Given the description of an element on the screen output the (x, y) to click on. 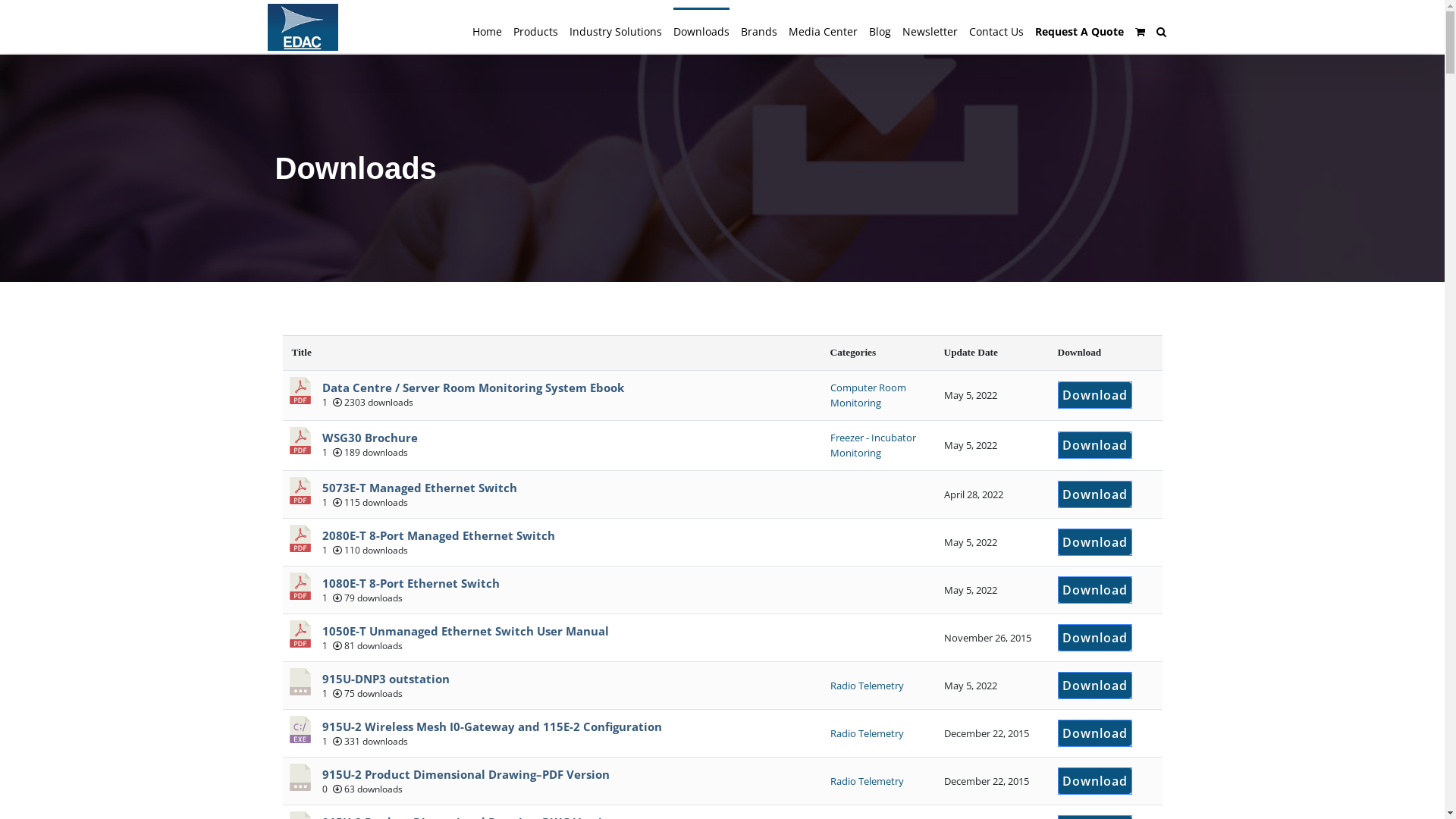
Freezer - Incubator Monitoring Element type: text (872, 445)
1050E-T Unmanaged Ethernet Switch User Manual Element type: text (464, 630)
Download Element type: text (1094, 589)
915U-2 Wireless Mesh I0-Gateway and 115E-2 Configuration Element type: text (491, 726)
Radio Telemetry Element type: text (866, 733)
2080E-T 8-Port Managed Ethernet Switch Element type: text (437, 534)
Media Center Element type: text (822, 30)
1080E-T 8-Port Ethernet Switch Element type: text (409, 582)
Blog Element type: text (880, 30)
Computer Room Monitoring Element type: text (867, 395)
Data Centre / Server Room Monitoring System Ebook Element type: text (472, 387)
Download Element type: text (1094, 780)
Downloads Element type: text (701, 30)
Request A Quote Element type: text (1078, 30)
Download Element type: text (1094, 493)
Industry Solutions Element type: text (614, 30)
Newsletter Element type: text (929, 30)
WSG30 Brochure Element type: text (369, 437)
Download Element type: text (1094, 395)
Radio Telemetry Element type: text (866, 685)
Download Element type: text (1094, 445)
Home Element type: text (486, 30)
Brands Element type: text (758, 30)
5073E-T Managed Ethernet Switch Element type: text (418, 487)
Download Element type: text (1094, 637)
Contact Us Element type: text (996, 30)
Download Element type: text (1094, 732)
Download Element type: text (1094, 684)
Search Element type: hover (1160, 30)
915U-DNP3 outstation Element type: text (384, 678)
Radio Telemetry Element type: text (866, 780)
Download Element type: text (1094, 541)
Products Element type: text (534, 30)
